Given the description of an element on the screen output the (x, y) to click on. 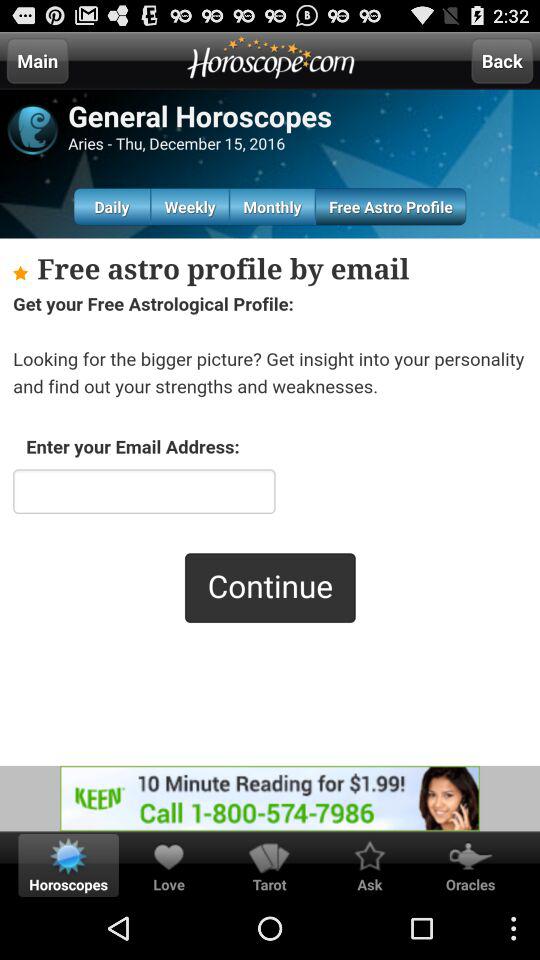
enter email address (270, 501)
